Given the description of an element on the screen output the (x, y) to click on. 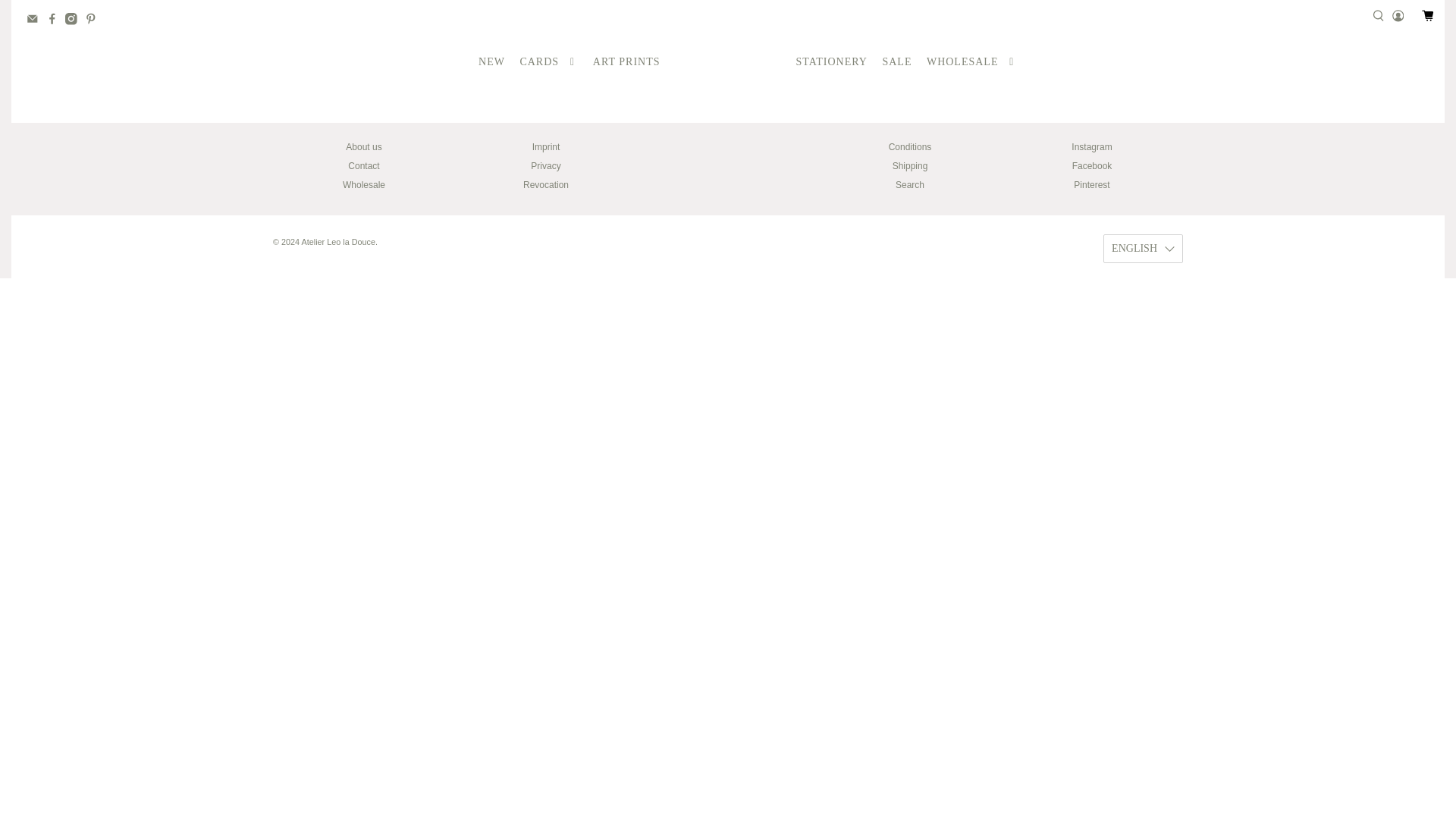
Atelier Leo la Douce (727, 61)
Email Atelier Leo la Douce (36, 21)
CARDS (548, 61)
Atelier Leo la Douce (760, 169)
STATIONERY (832, 61)
Atelier Leo la Douce on Pinterest (94, 21)
Atelier Leo la Douce on Facebook (55, 21)
NEW (491, 61)
ART PRINTS (625, 61)
Atelier Leo la Douce on Instagram (74, 21)
SALE (897, 61)
WHOLESALE (971, 61)
